Given the description of an element on the screen output the (x, y) to click on. 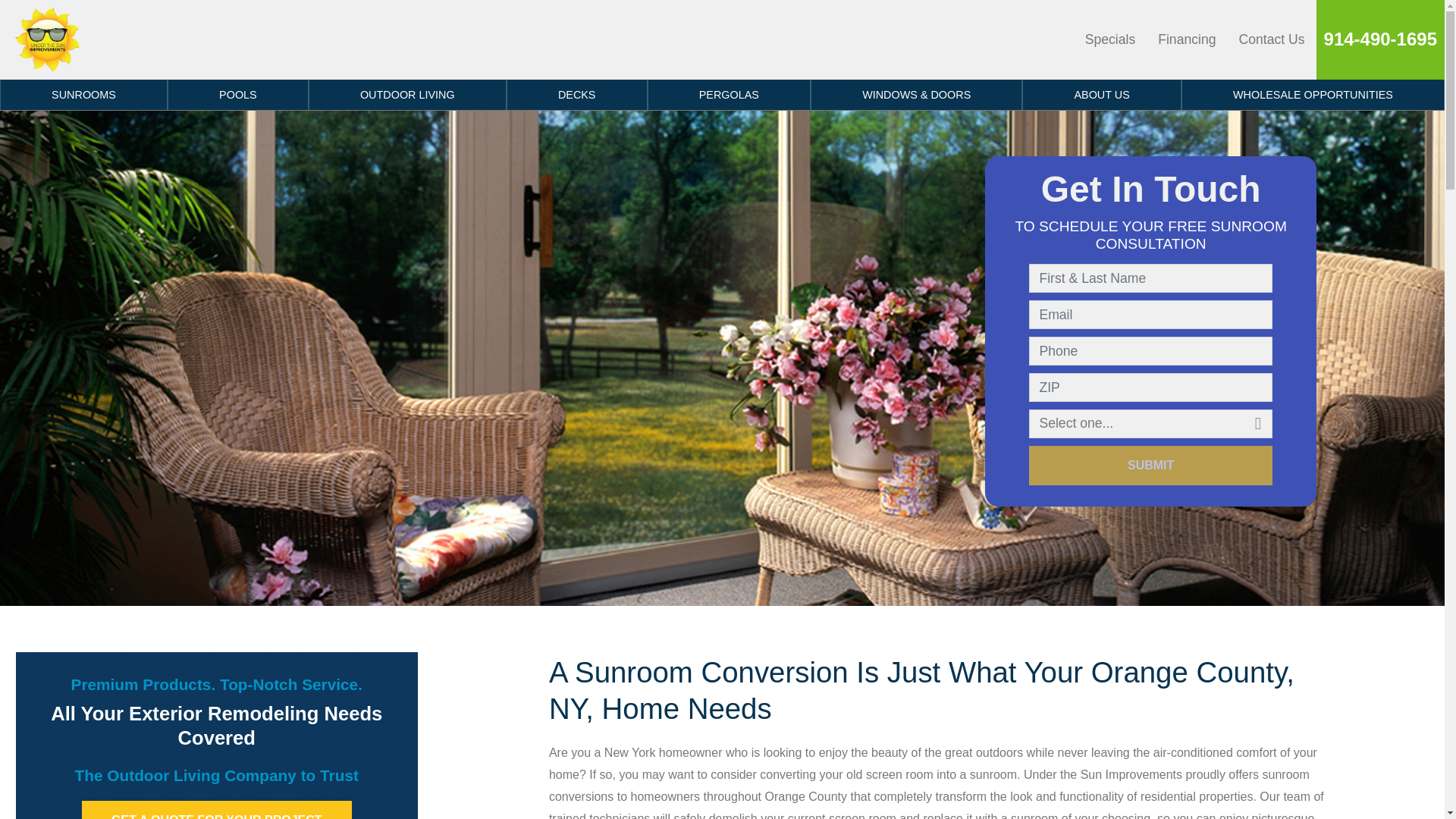
ABOUT US (1101, 94)
SUNROOMS (83, 94)
Financing (1187, 40)
PERGOLAS (728, 94)
DECKS (576, 94)
Contact Us (1271, 40)
POOLS (237, 94)
SUBMIT (1150, 465)
OUTDOOR LIVING (407, 94)
Specials (1110, 40)
Under the Sun Improvements (47, 39)
